Given the description of an element on the screen output the (x, y) to click on. 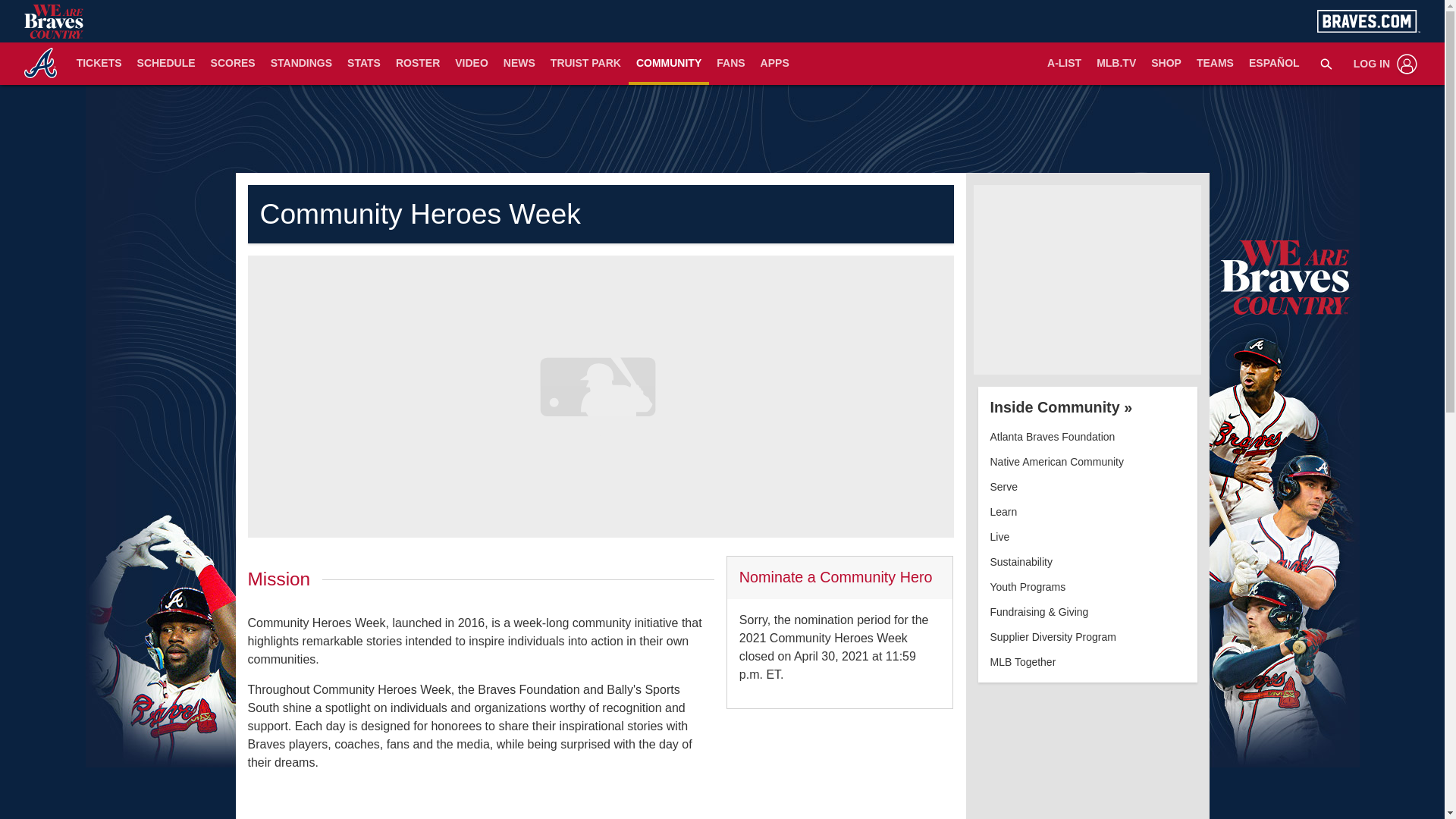
TICKETS (98, 63)
STATS (363, 63)
SCHEDULE (166, 63)
ROSTER (417, 63)
SCORES (233, 63)
search-8364 (1326, 63)
STANDINGS (301, 63)
